Given the description of an element on the screen output the (x, y) to click on. 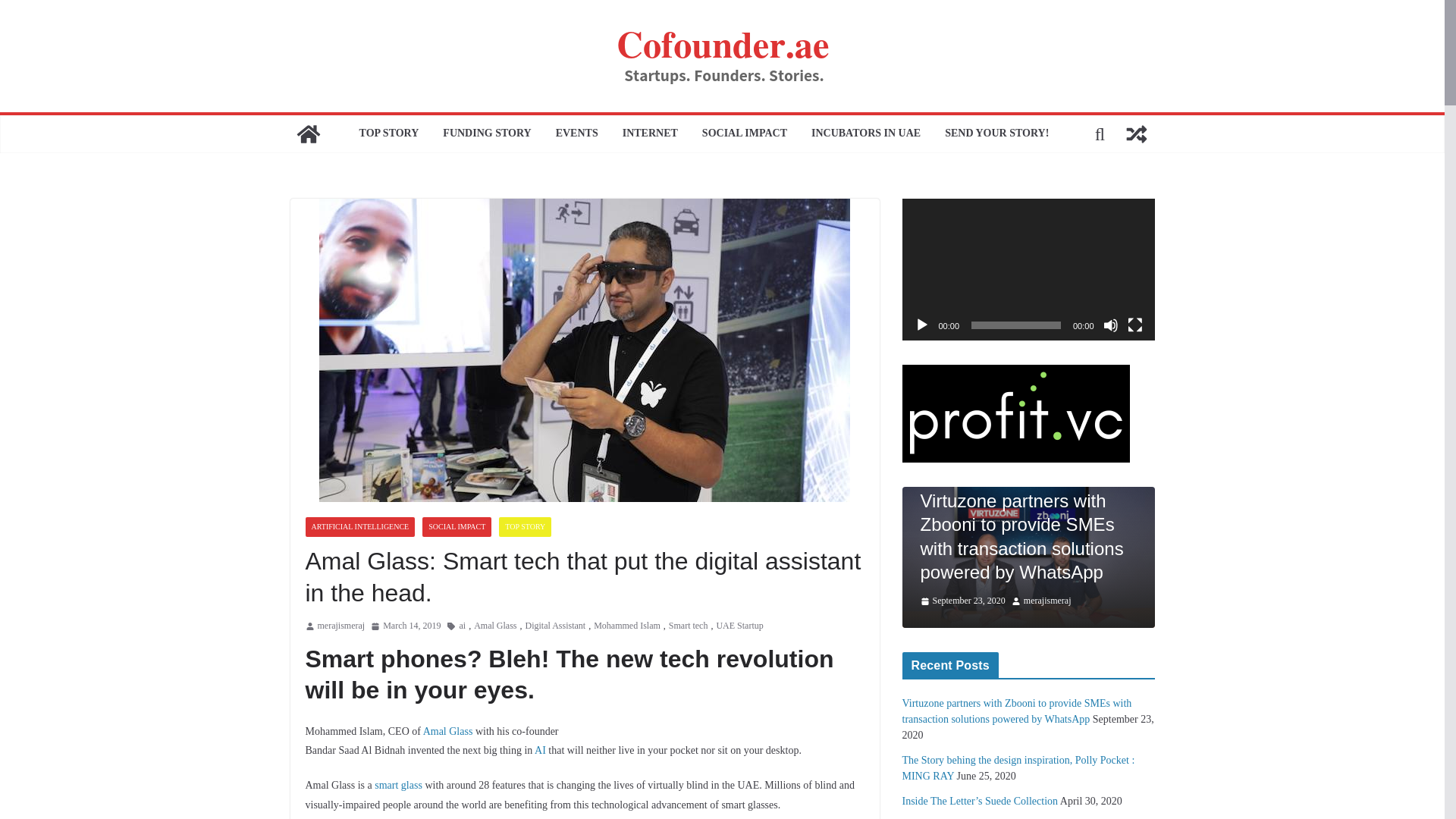
Amal Glass (495, 626)
Amal Glass (448, 731)
SOCIAL IMPACT (457, 526)
March 14, 2019 (406, 626)
ARTIFICIAL INTELLIGENCE (359, 526)
Play (922, 324)
6:51 am (406, 626)
EVENTS (577, 133)
FUNDING STORY (486, 133)
merajismeraj (341, 626)
